Given the description of an element on the screen output the (x, y) to click on. 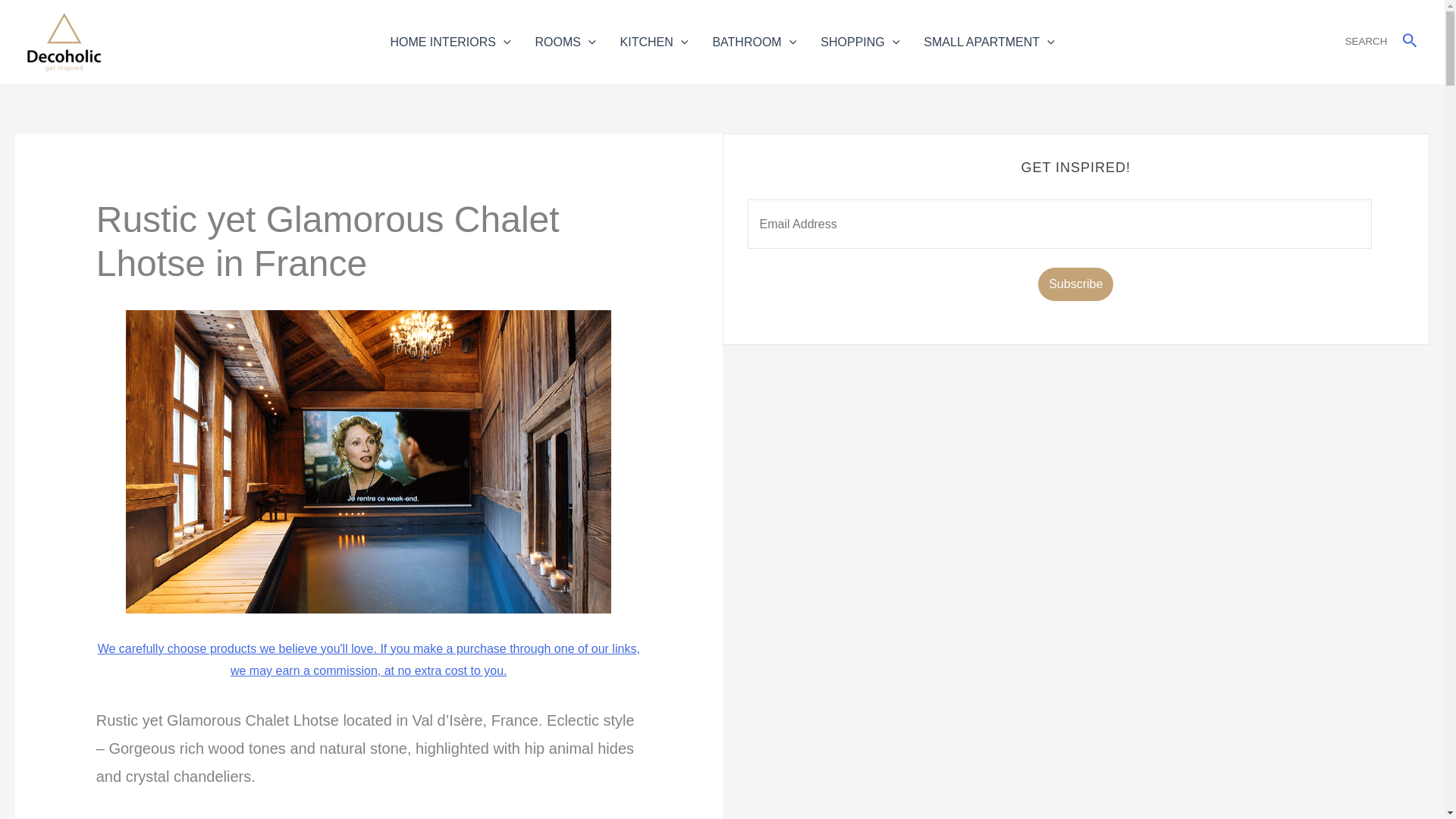
HOME INTERIORS (449, 41)
SHOPPING (859, 41)
KITCHEN (654, 41)
SMALL APARTMENT (988, 41)
ROOMS (565, 41)
BATHROOM (754, 41)
